Given the description of an element on the screen output the (x, y) to click on. 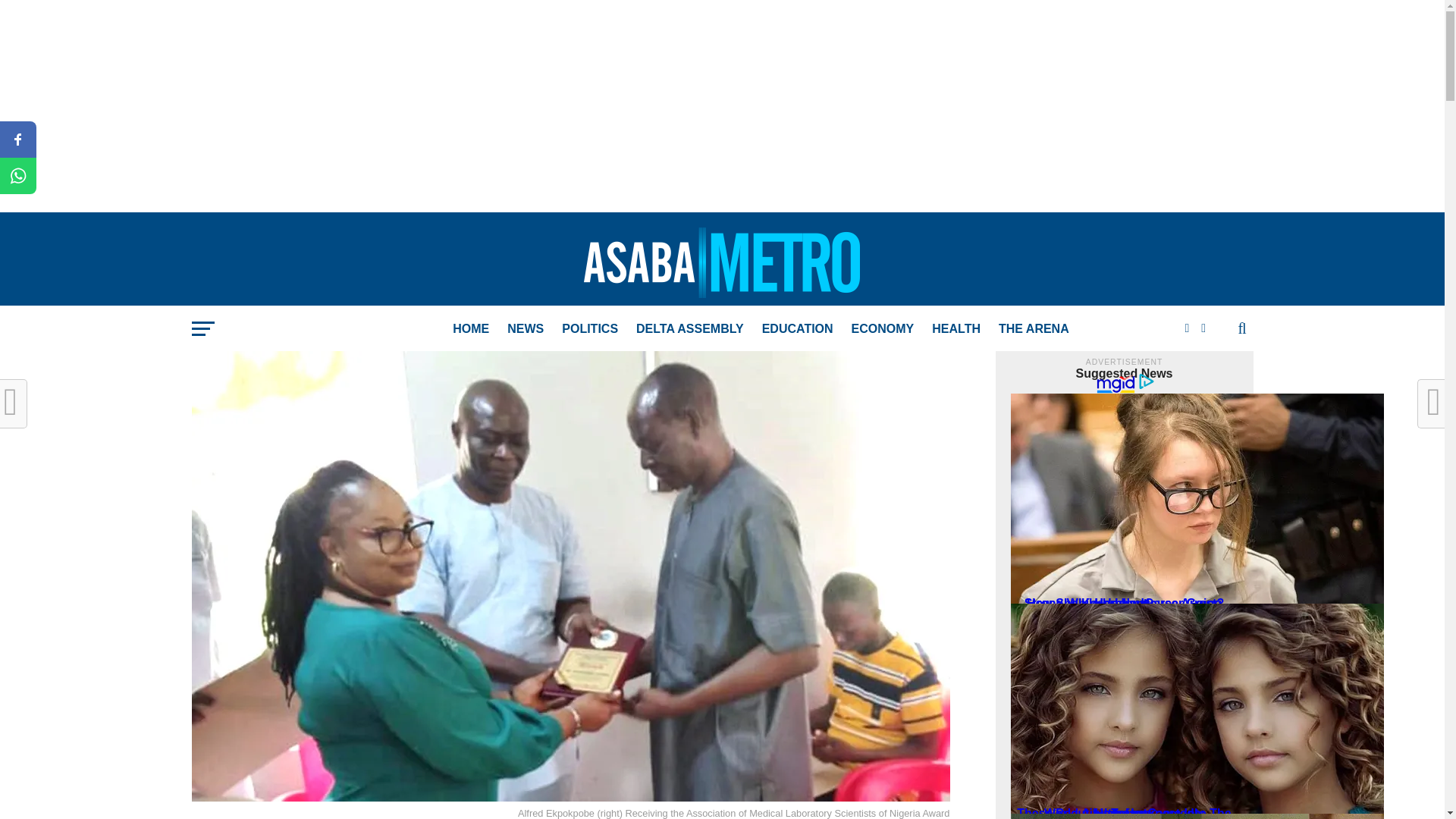
NEWS (525, 328)
THE ARENA (1034, 328)
POLITICS (590, 328)
HEALTH (956, 328)
HOME (470, 328)
ECONOMY (883, 328)
EDUCATION (797, 328)
DELTA ASSEMBLY (689, 328)
